Given the description of an element on the screen output the (x, y) to click on. 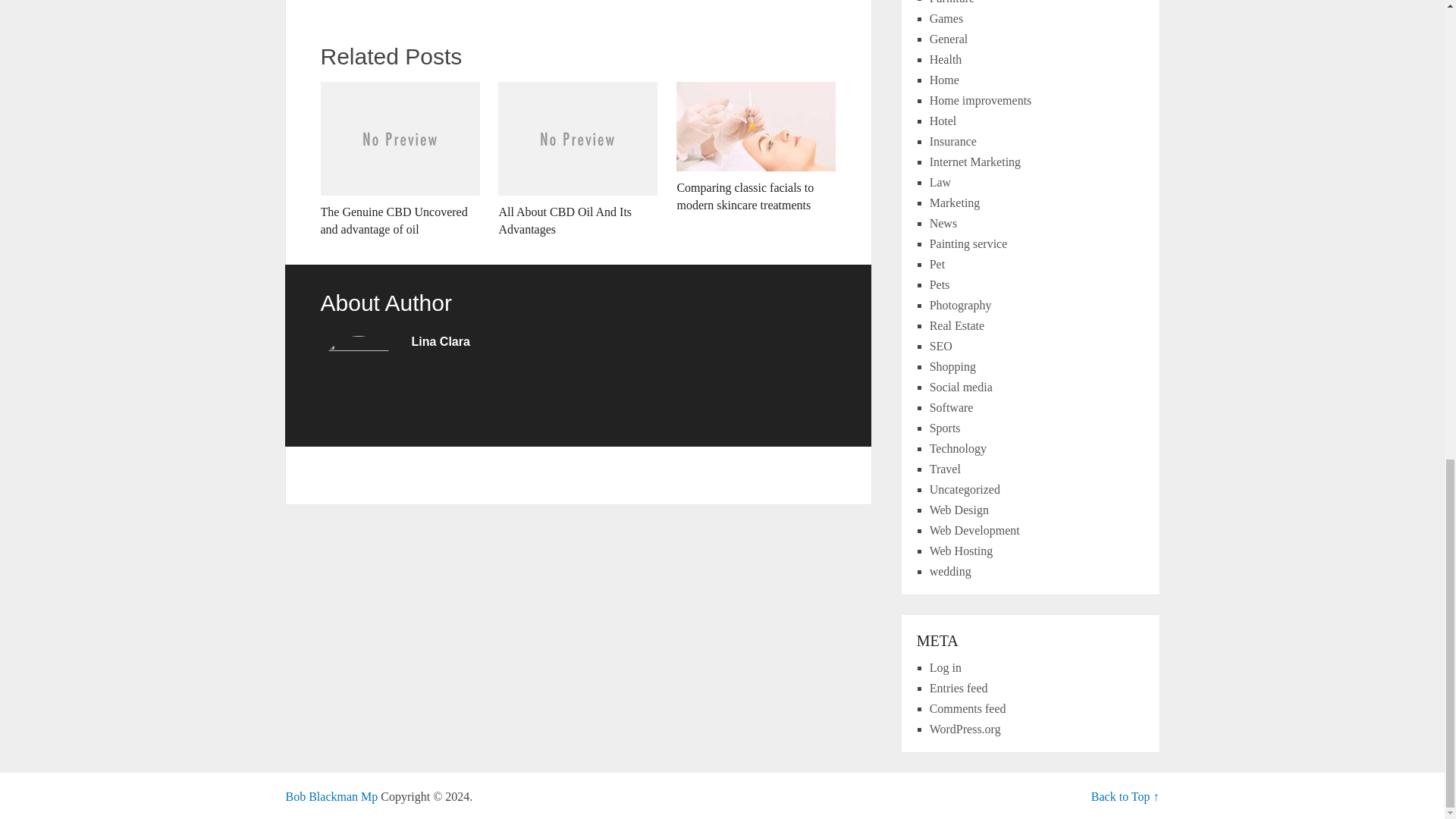
All About CBD Oil And Its Advantages (577, 159)
All About CBD Oil And Its Advantages (577, 159)
Games (946, 18)
Comparing classic facials to modern skincare treatments (756, 147)
The Genuine CBD Uncovered and advantage of oil (399, 159)
Comparing classic facials to modern skincare treatments (756, 147)
Furniture (952, 2)
The Genuine CBD Uncovered and advantage of oil (399, 159)
Health (946, 59)
General (949, 38)
